Given the description of an element on the screen output the (x, y) to click on. 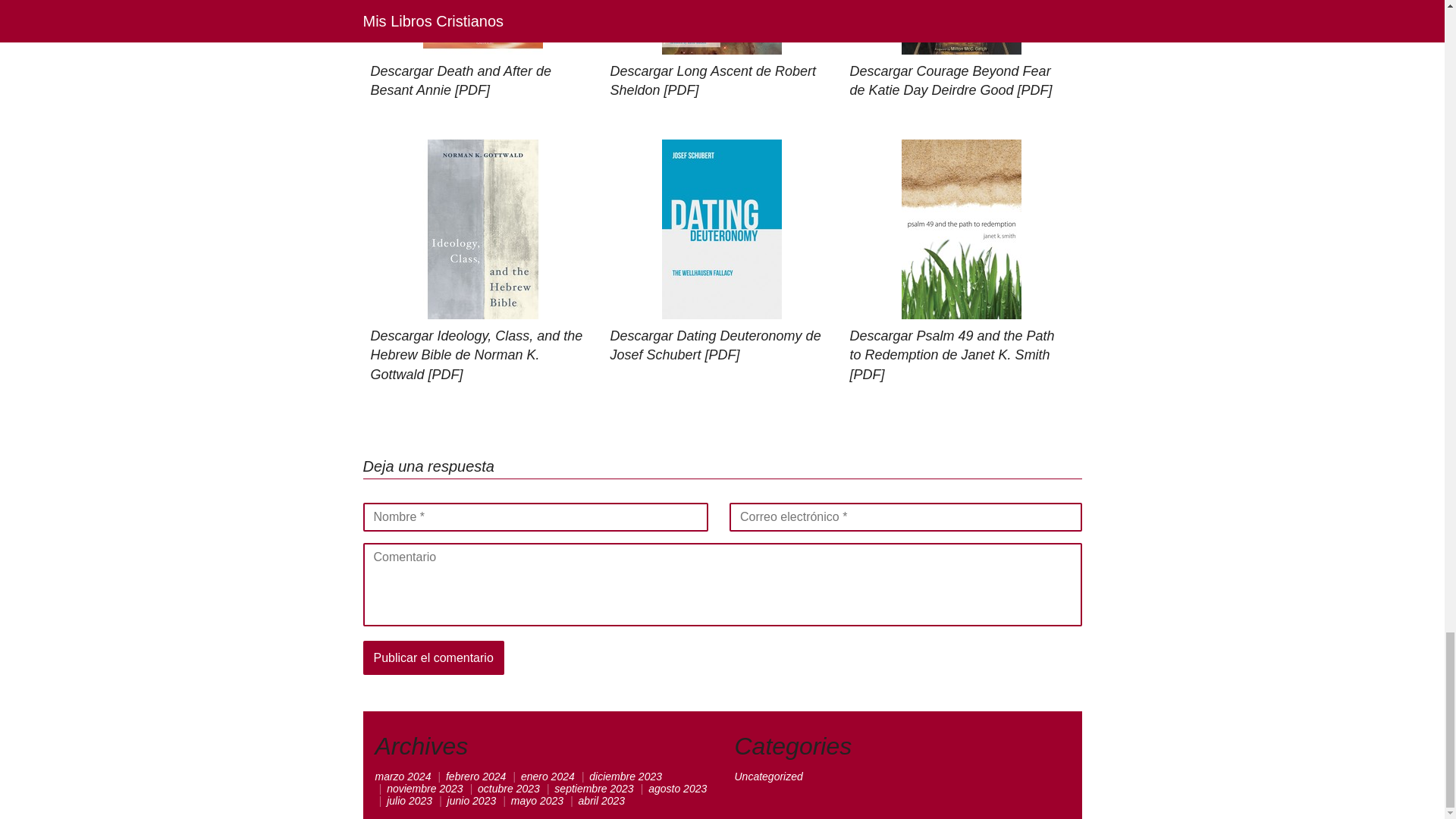
diciembre 2023 (625, 776)
febrero 2024 (475, 776)
Publicar el comentario (432, 657)
octubre 2023 (508, 788)
enero 2024 (548, 776)
noviembre 2023 (425, 788)
Publicar el comentario (432, 657)
marzo 2024 (402, 776)
